Given the description of an element on the screen output the (x, y) to click on. 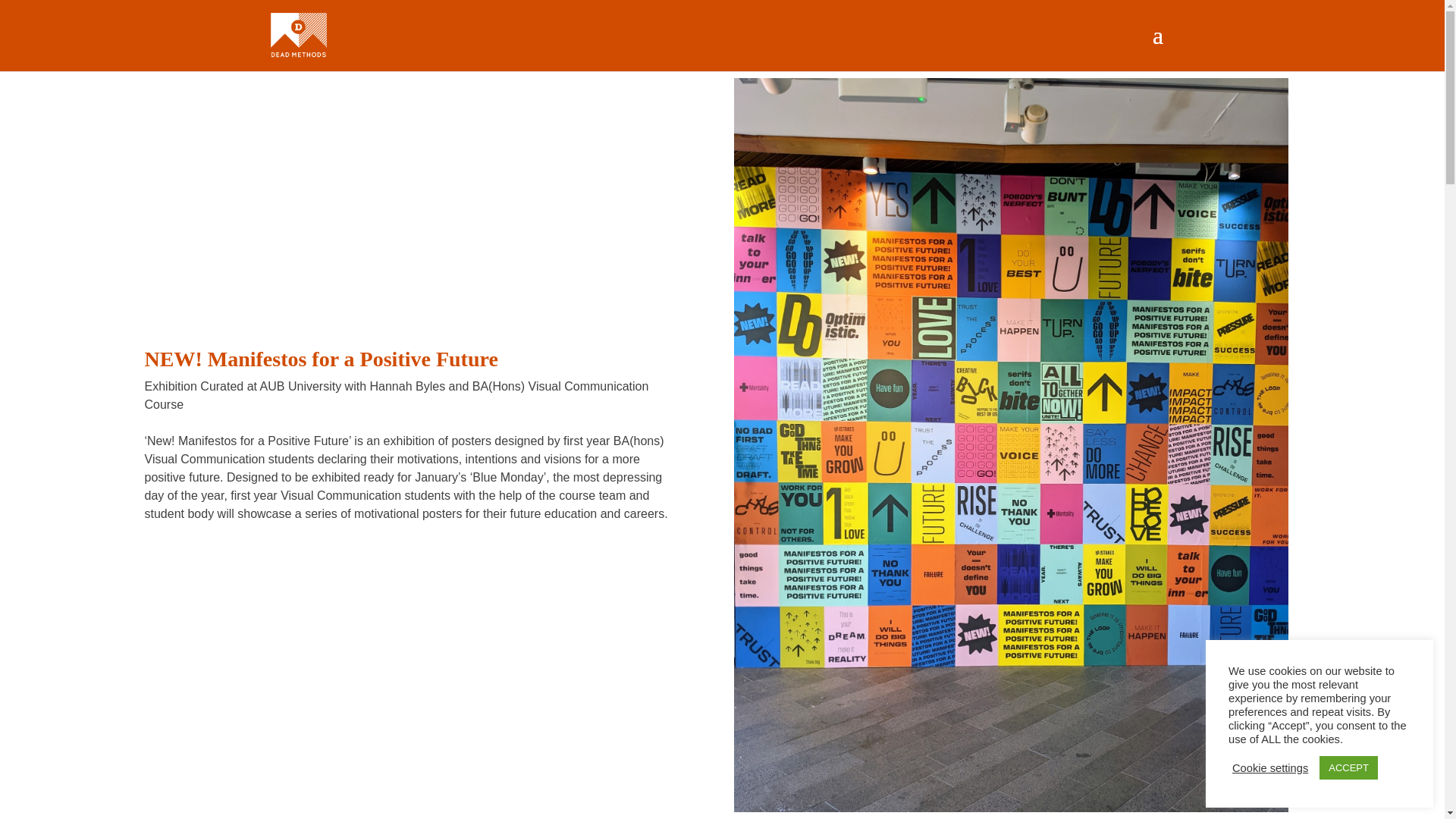
ACCEPT (1348, 767)
Cookie settings (1269, 767)
